Given the description of an element on the screen output the (x, y) to click on. 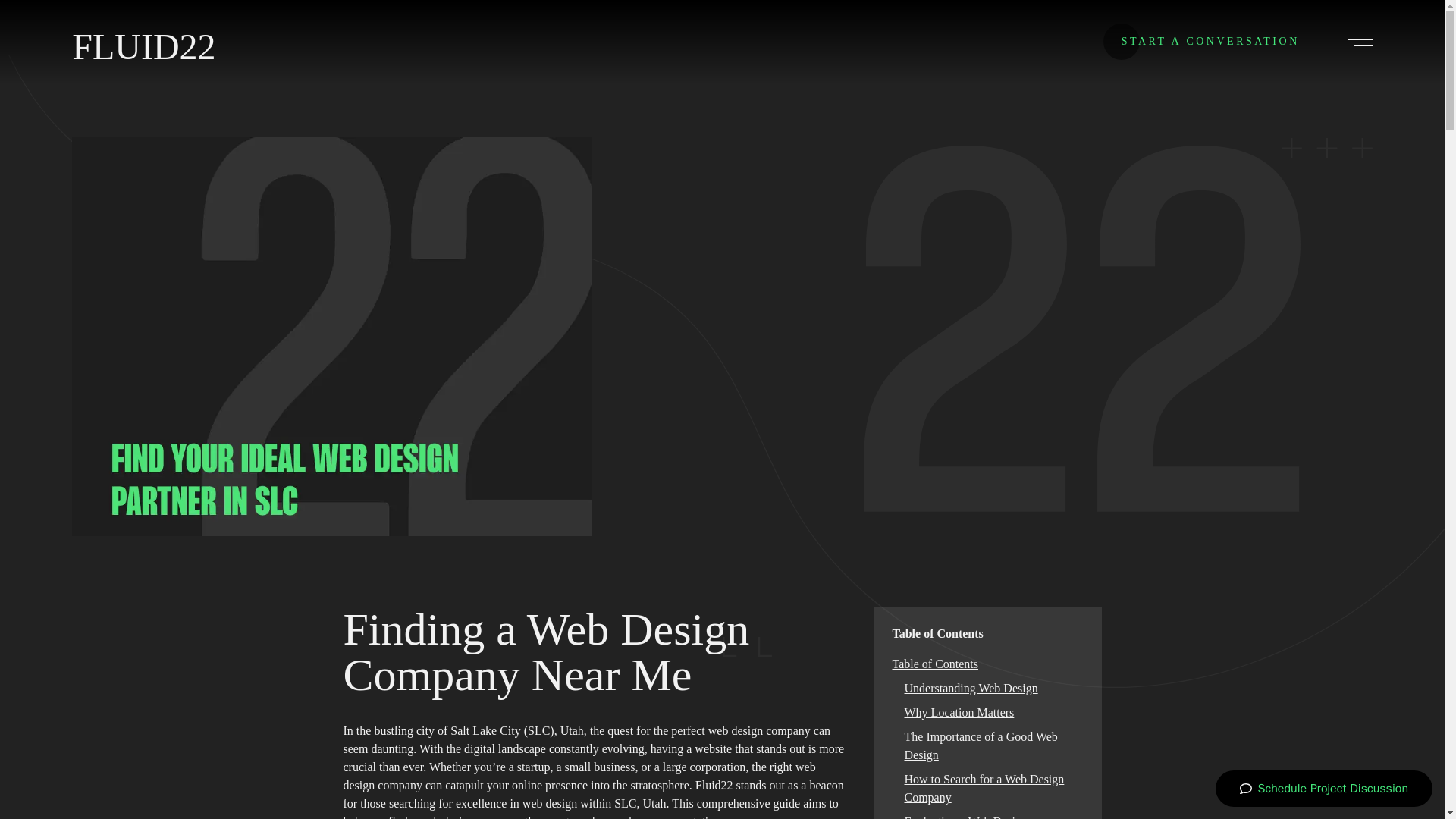
How to Search for a Web Design Company (984, 788)
Table of Contents (934, 663)
Understanding Web Design (970, 687)
Why Location Matters (958, 712)
START A CONVERSATION (1210, 41)
The Importance of a Good Web Design (980, 745)
FLUID22 (143, 46)
